Given the description of an element on the screen output the (x, y) to click on. 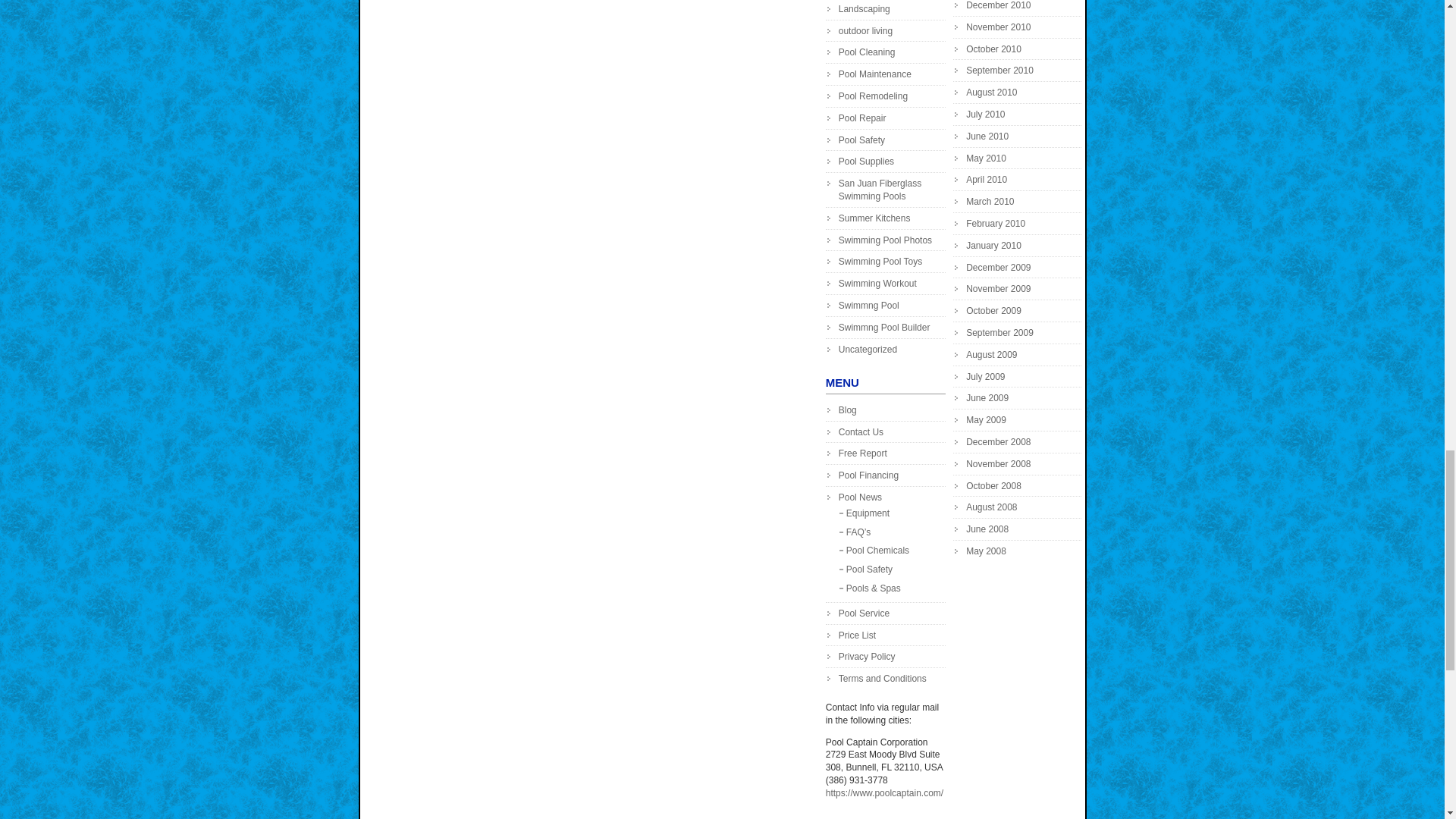
Landscaping (863, 9)
San Juan Fiberglass Swimming Pools (879, 189)
Pool Cleaning (866, 51)
outdoor living (865, 30)
